Given the description of an element on the screen output the (x, y) to click on. 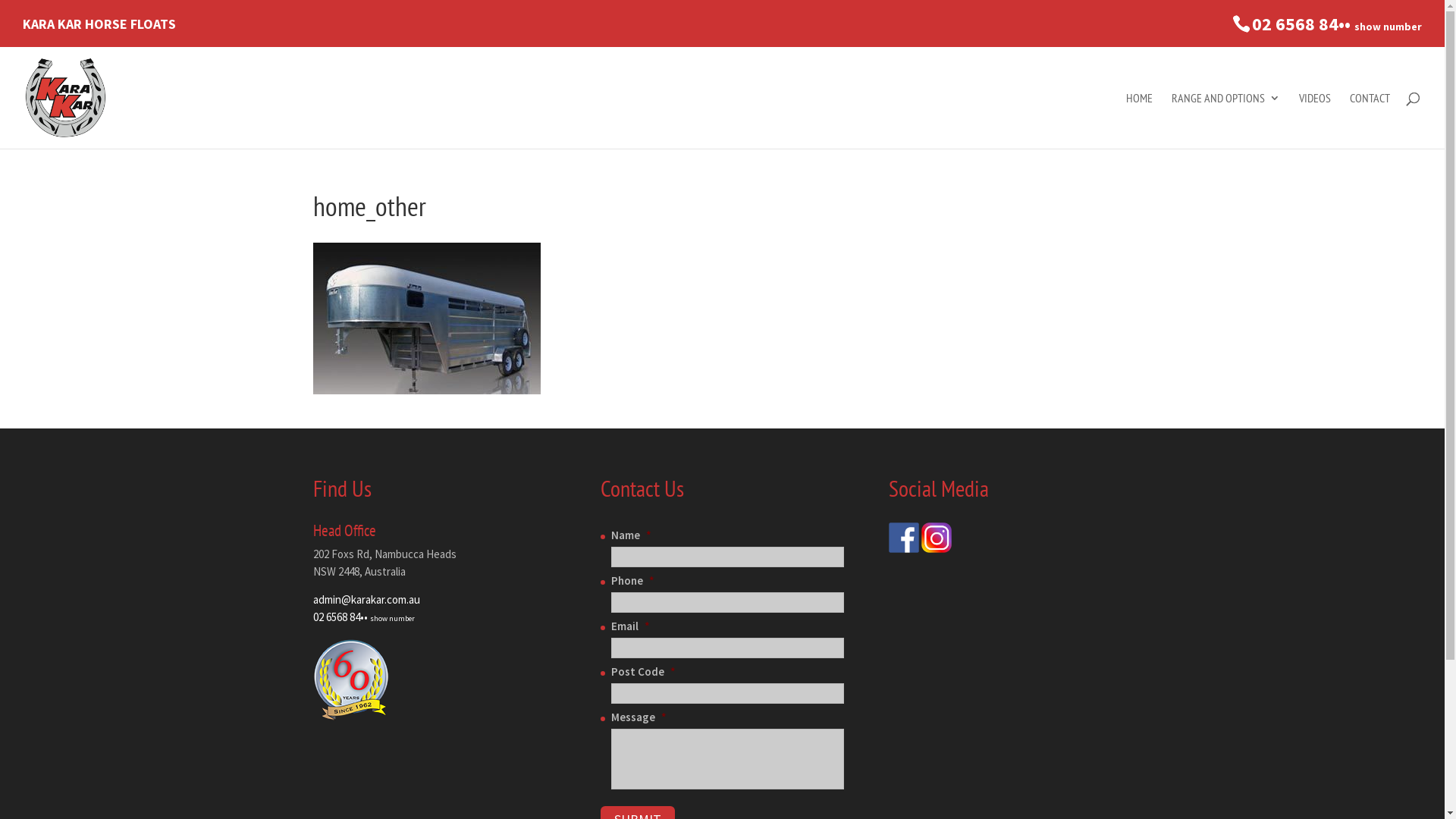
admin@karakar.com.au Element type: text (365, 599)
HOME Element type: text (1139, 120)
CONTACT Element type: text (1369, 120)
RANGE AND OPTIONS Element type: text (1225, 120)
KARA KAR HORSE FLOATS Element type: text (98, 29)
VIDEOS Element type: text (1314, 120)
